Given the description of an element on the screen output the (x, y) to click on. 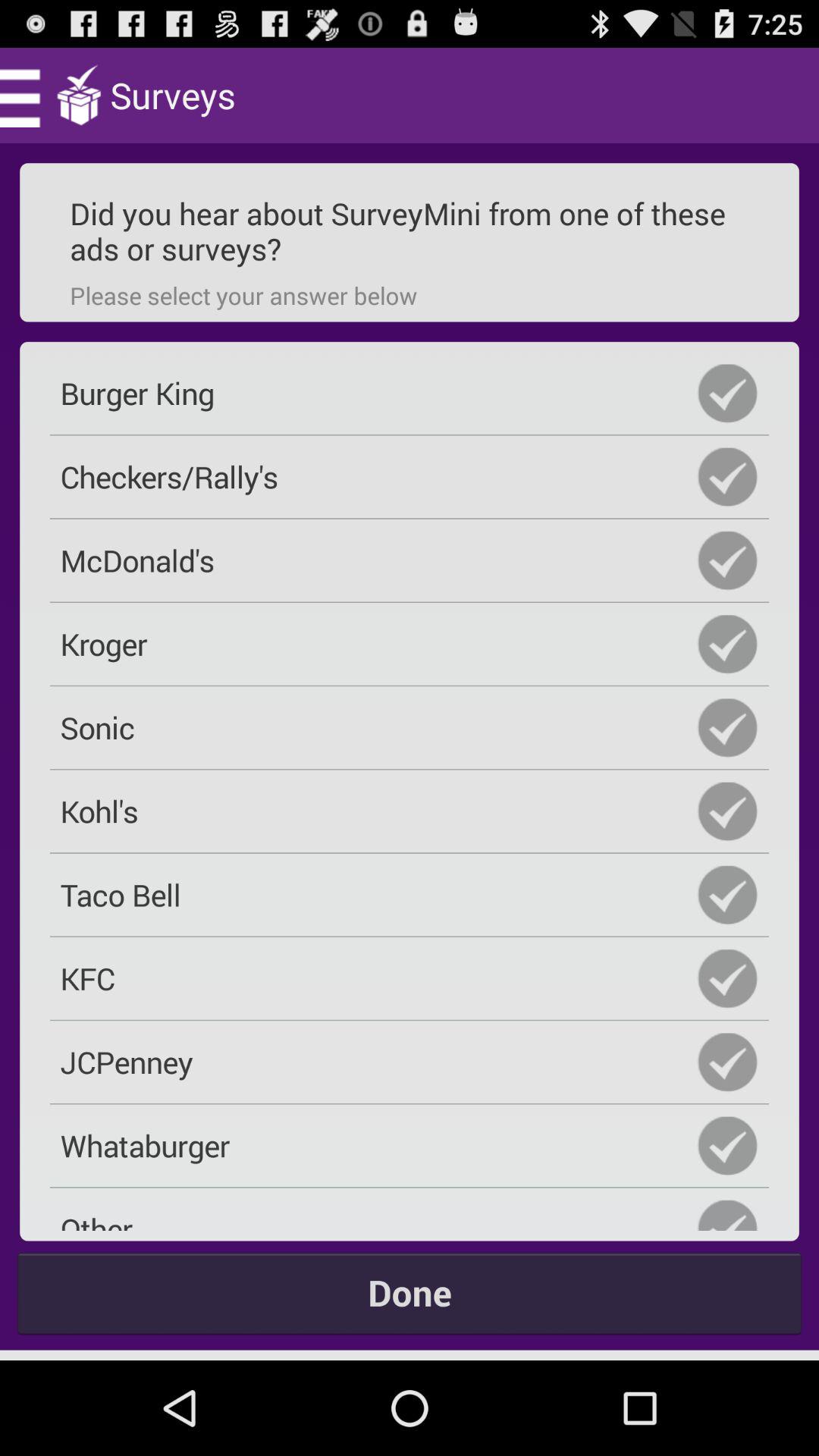
choose the icon below the kroger icon (409, 727)
